Given the description of an element on the screen output the (x, y) to click on. 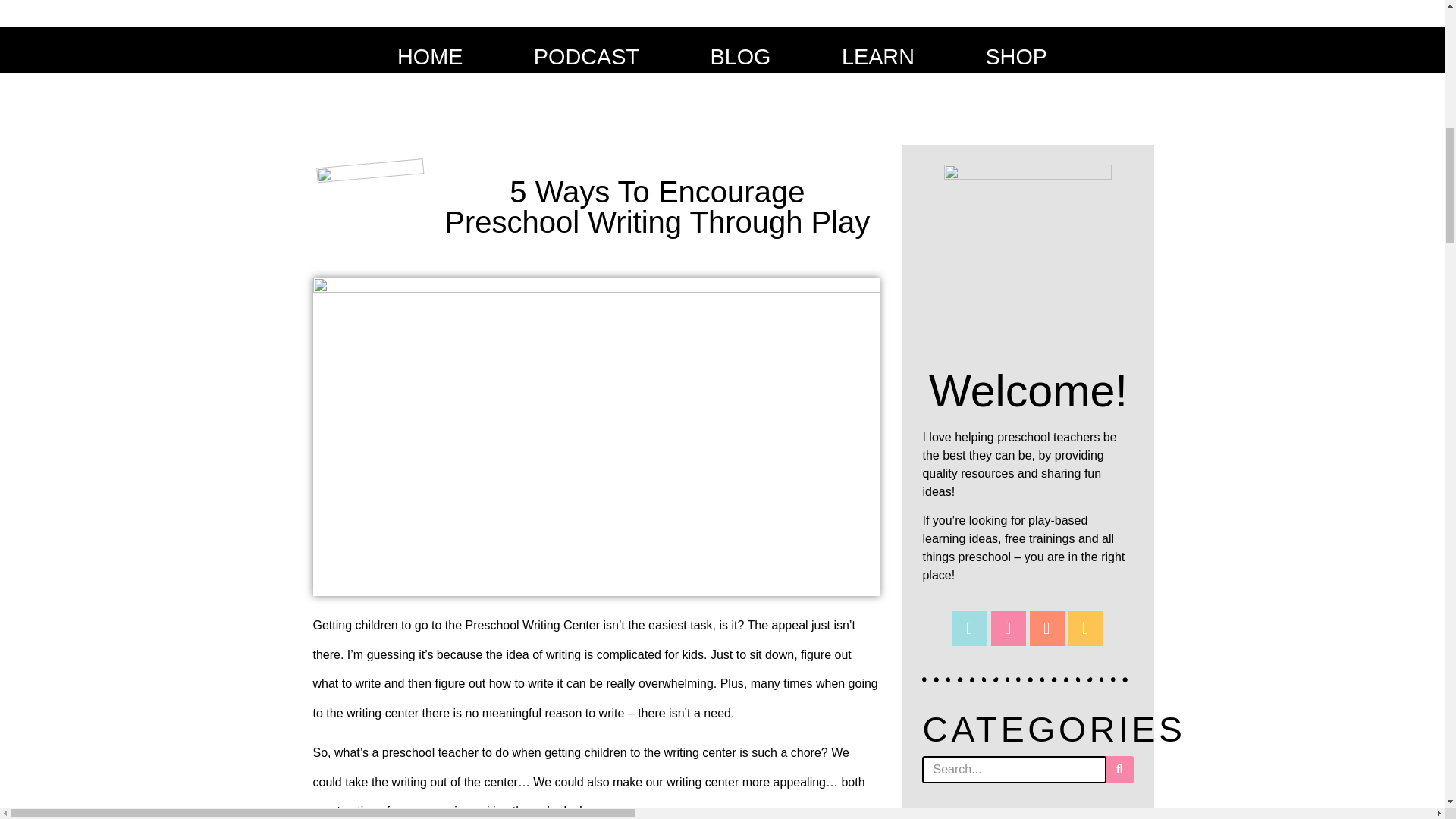
BLOG (740, 55)
HOME (429, 55)
PODCAST (586, 55)
SHOP (1015, 55)
LEARN (878, 55)
